Given the description of an element on the screen output the (x, y) to click on. 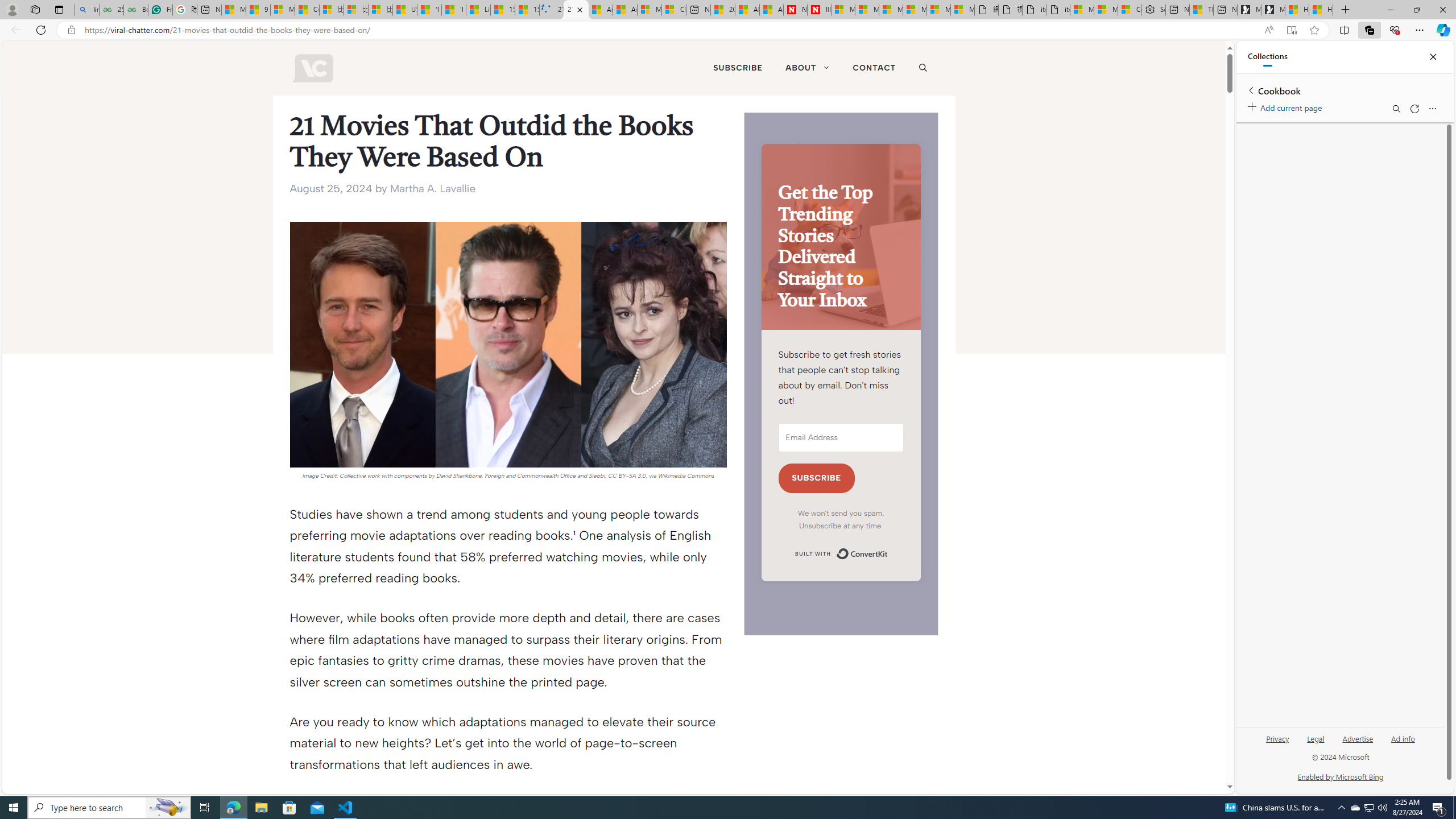
Consumer Health Data Privacy Policy (1129, 9)
15 Ways Modern Life Contradicts the Teachings of Jesus (526, 9)
Lifestyle - MSN (478, 9)
ABOUT (807, 67)
